Given the description of an element on the screen output the (x, y) to click on. 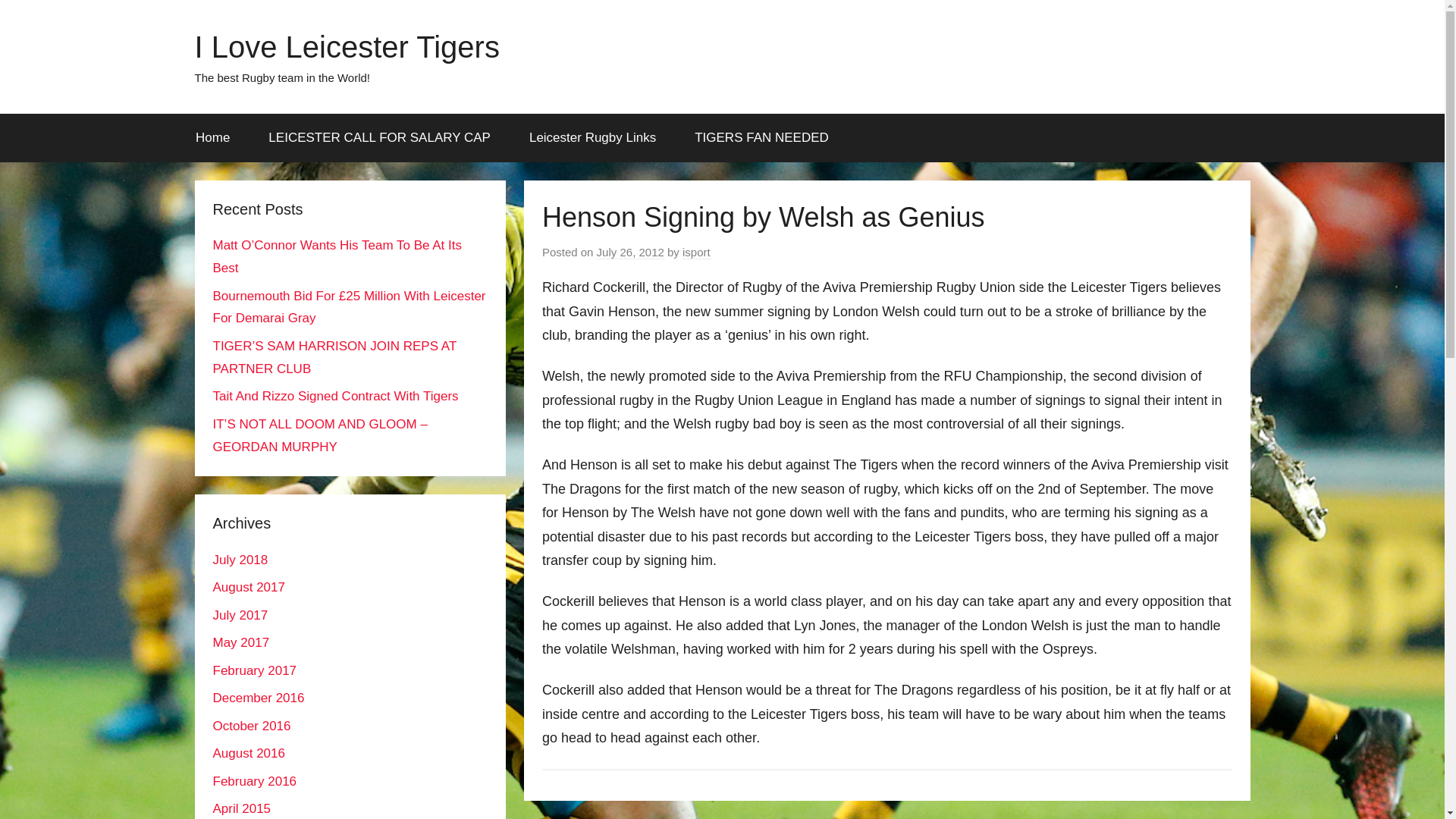
Leicester Rugby Links (592, 137)
View all posts by isport (696, 252)
LEICESTER CALL FOR SALARY CAP (379, 137)
December 2016 (258, 698)
Tait And Rizzo Signed Contract With Tigers (335, 396)
Home (212, 137)
July 2017 (239, 615)
August 2017 (247, 586)
April 2015 (241, 808)
July 2018 (239, 559)
TIGERS FAN NEEDED (761, 137)
February 2017 (254, 670)
February 2016 (254, 780)
I Love Leicester Tigers (346, 46)
isport (696, 252)
